Given the description of an element on the screen output the (x, y) to click on. 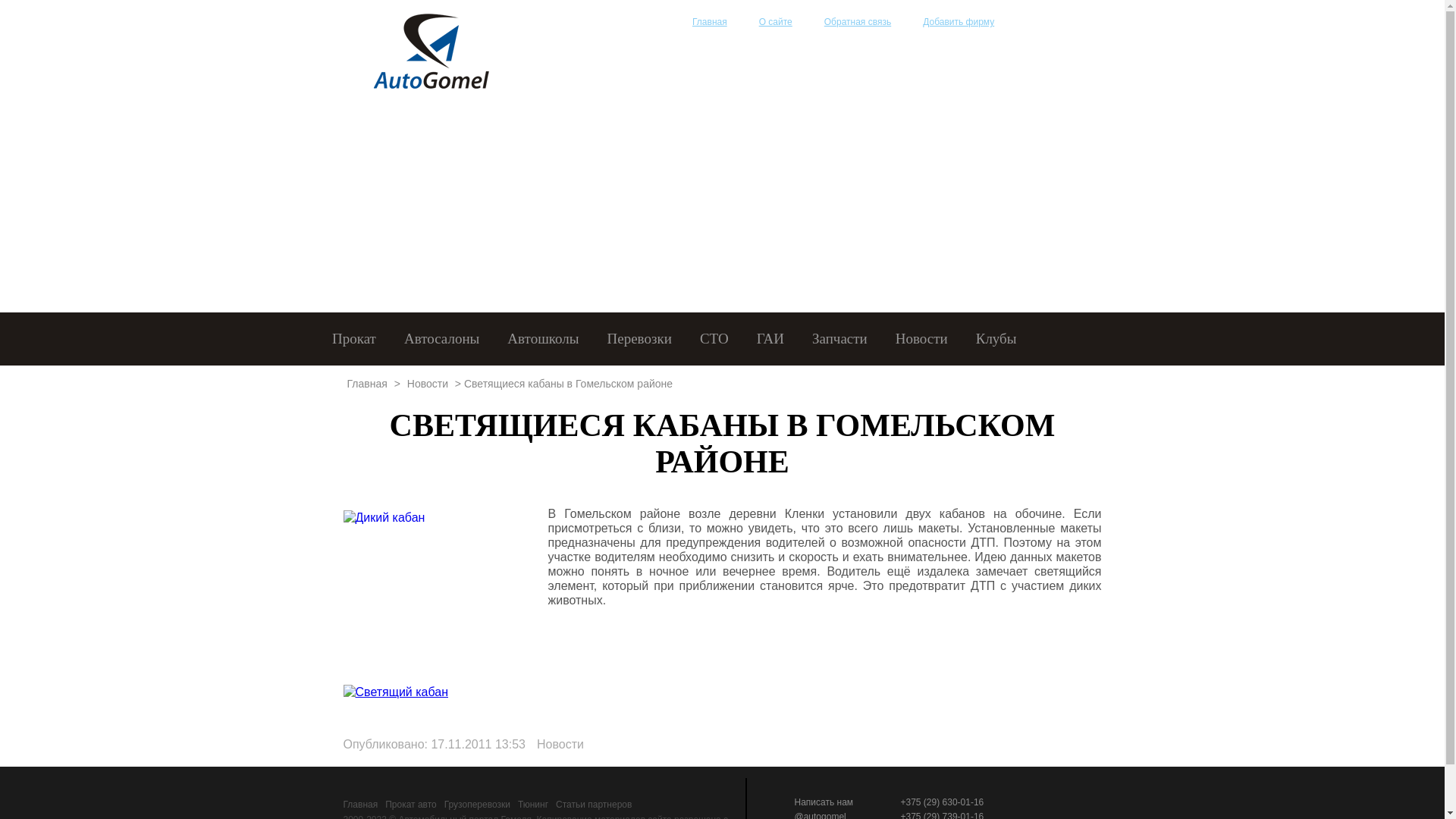
Search Element type: text (614, 21)
Home Element type: text (578, 21)
Email Element type: text (650, 21)
